Given the description of an element on the screen output the (x, y) to click on. 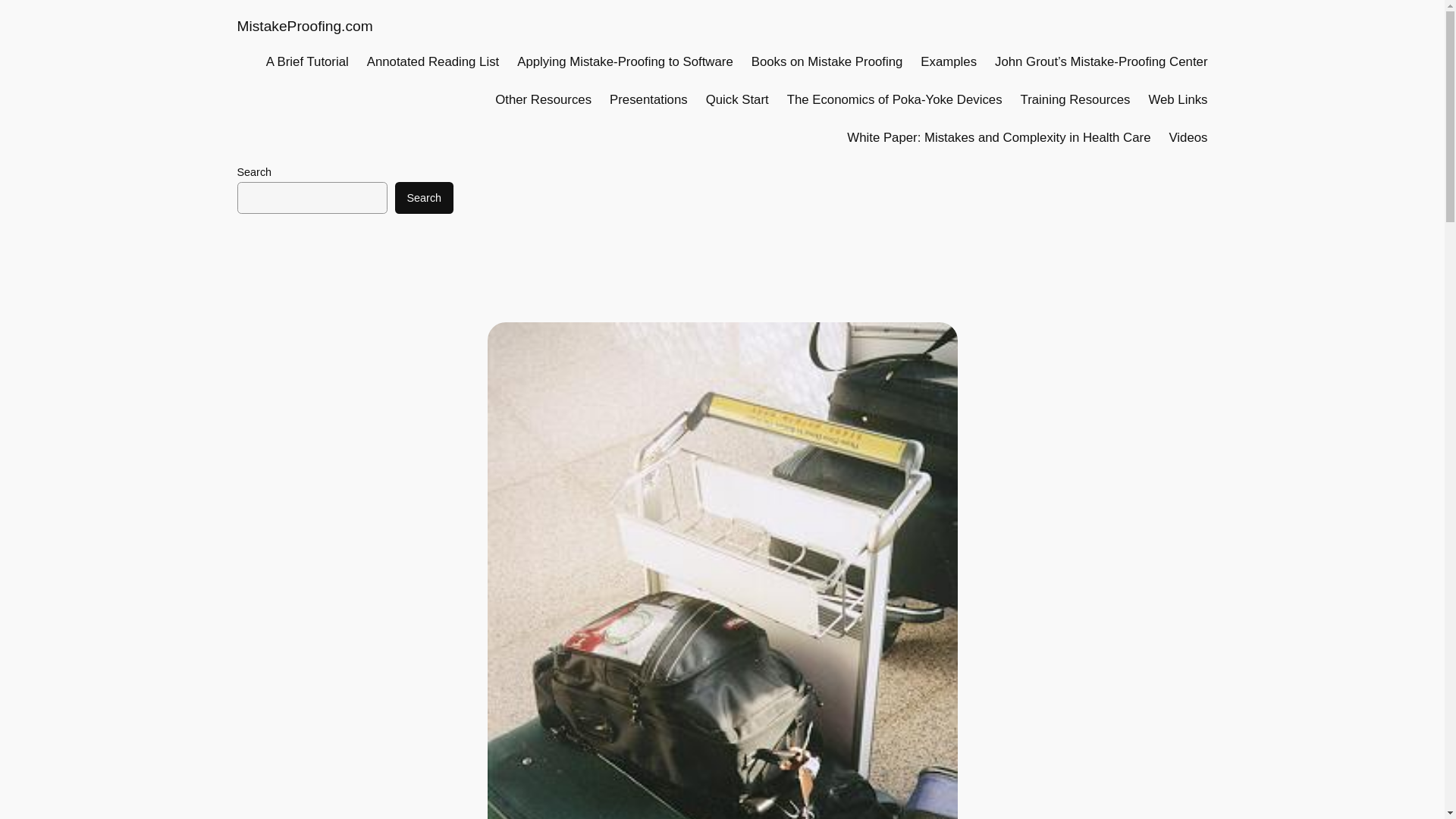
Training Resources (1075, 99)
Examples (948, 62)
The Economics of Poka-Yoke Devices (895, 99)
Annotated Reading List (432, 62)
MistakeProofing.com (303, 26)
A Brief Tutorial (307, 62)
White Paper: Mistakes and Complexity in Health Care (998, 137)
Applying Mistake-Proofing to Software (624, 62)
Other Resources (543, 99)
Quick Start (737, 99)
Books on Mistake Proofing (826, 62)
Presentations (648, 99)
Web Links (1177, 99)
Search (423, 197)
Videos (1188, 137)
